Given the description of an element on the screen output the (x, y) to click on. 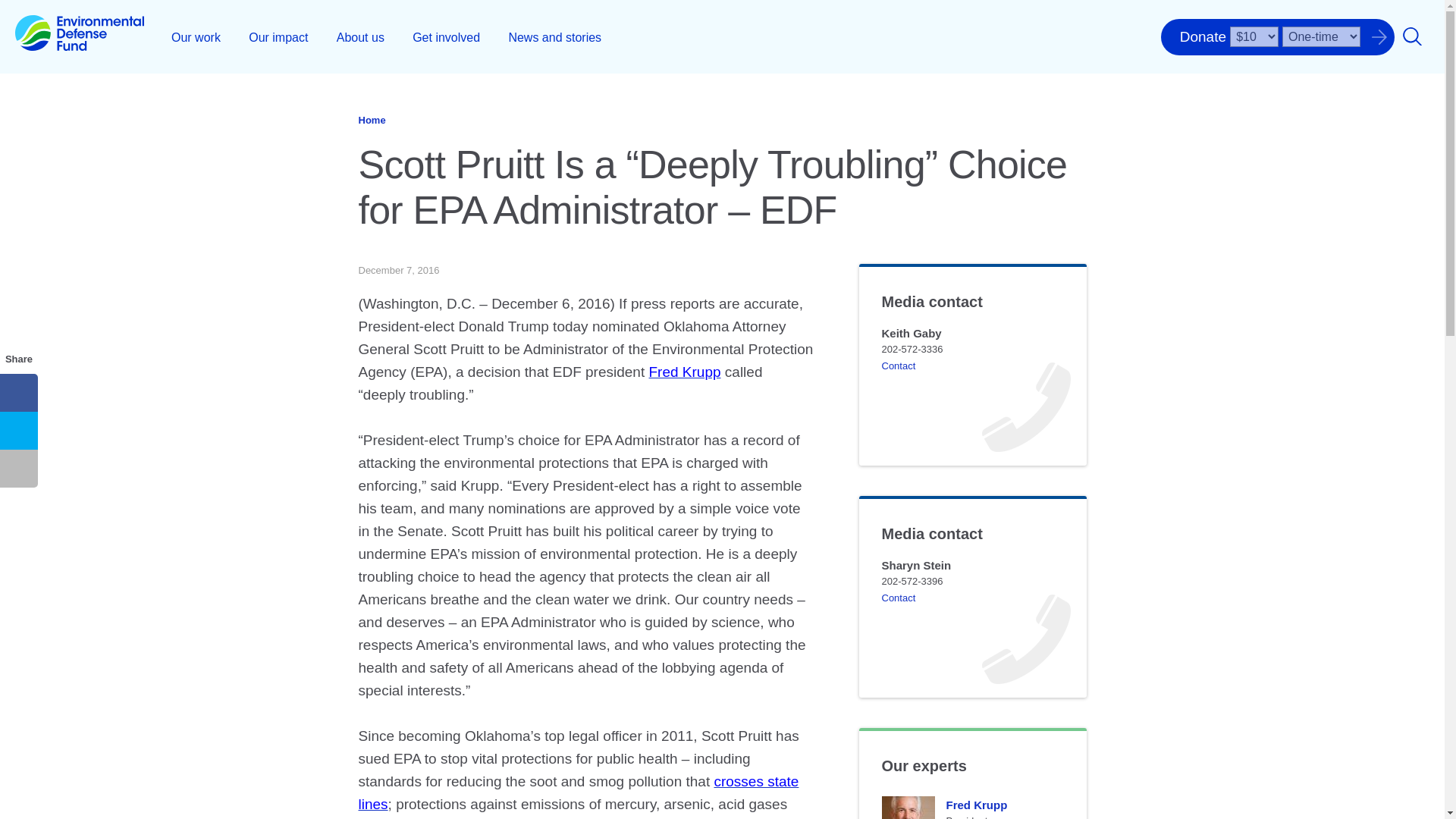
Share on Facebook (18, 392)
Share on Twitter (18, 430)
Print this page (18, 506)
Fred Krupp (907, 807)
Magnifying Glass (1411, 36)
Magnifying Glass (1412, 36)
Get involved (446, 36)
News and stories (554, 36)
Our work (195, 36)
Email to a friend (18, 468)
Our impact (277, 36)
About us (360, 36)
Home (79, 36)
Environmental Defense Fund (79, 36)
